Given the description of an element on the screen output the (x, y) to click on. 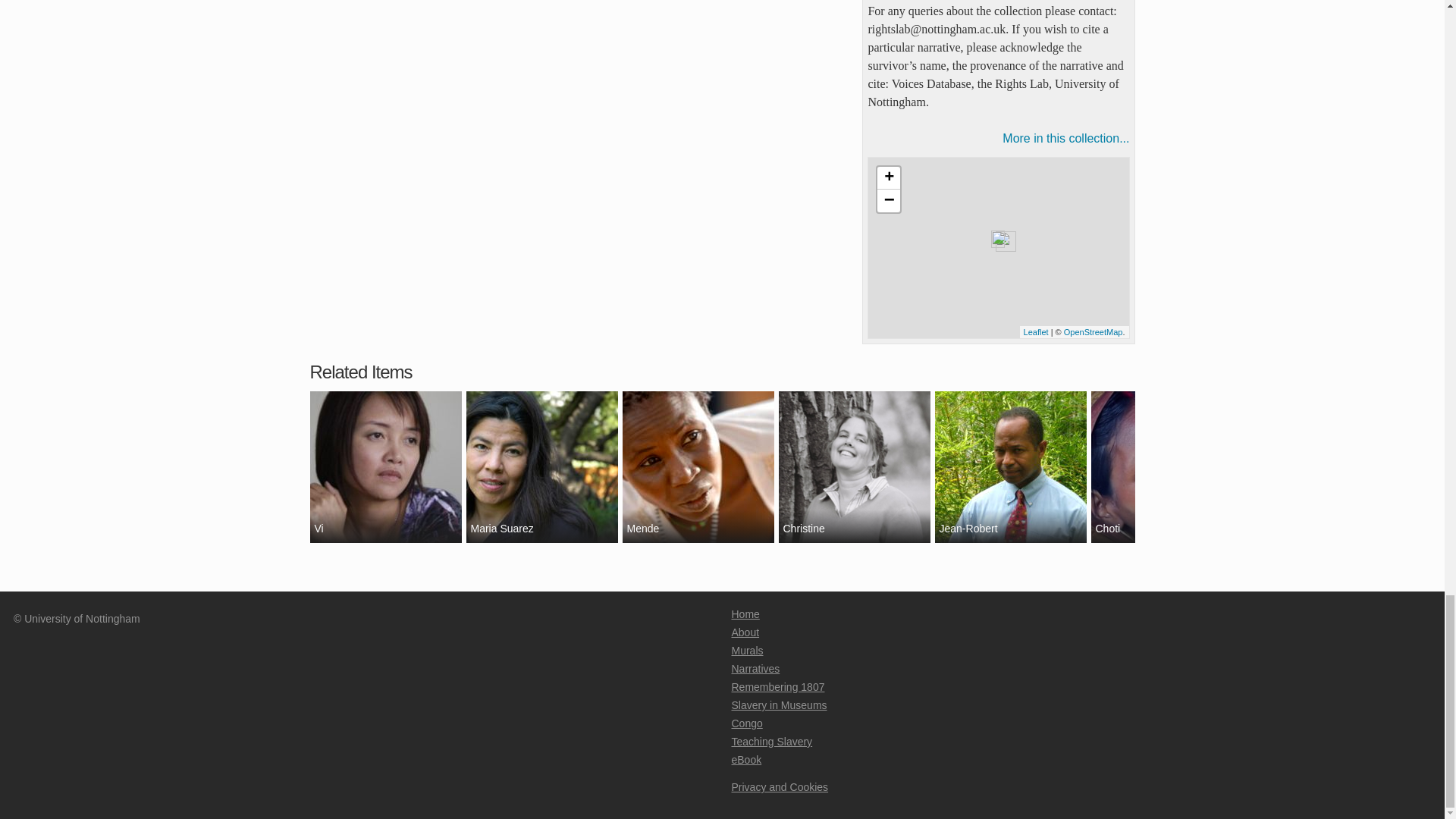
Leaflet (1035, 330)
OpenStreetMap (1093, 330)
More in this collection... (998, 138)
Zoom in (888, 178)
Zoom out (888, 200)
A JS library for interactive maps (1035, 330)
